Given the description of an element on the screen output the (x, y) to click on. 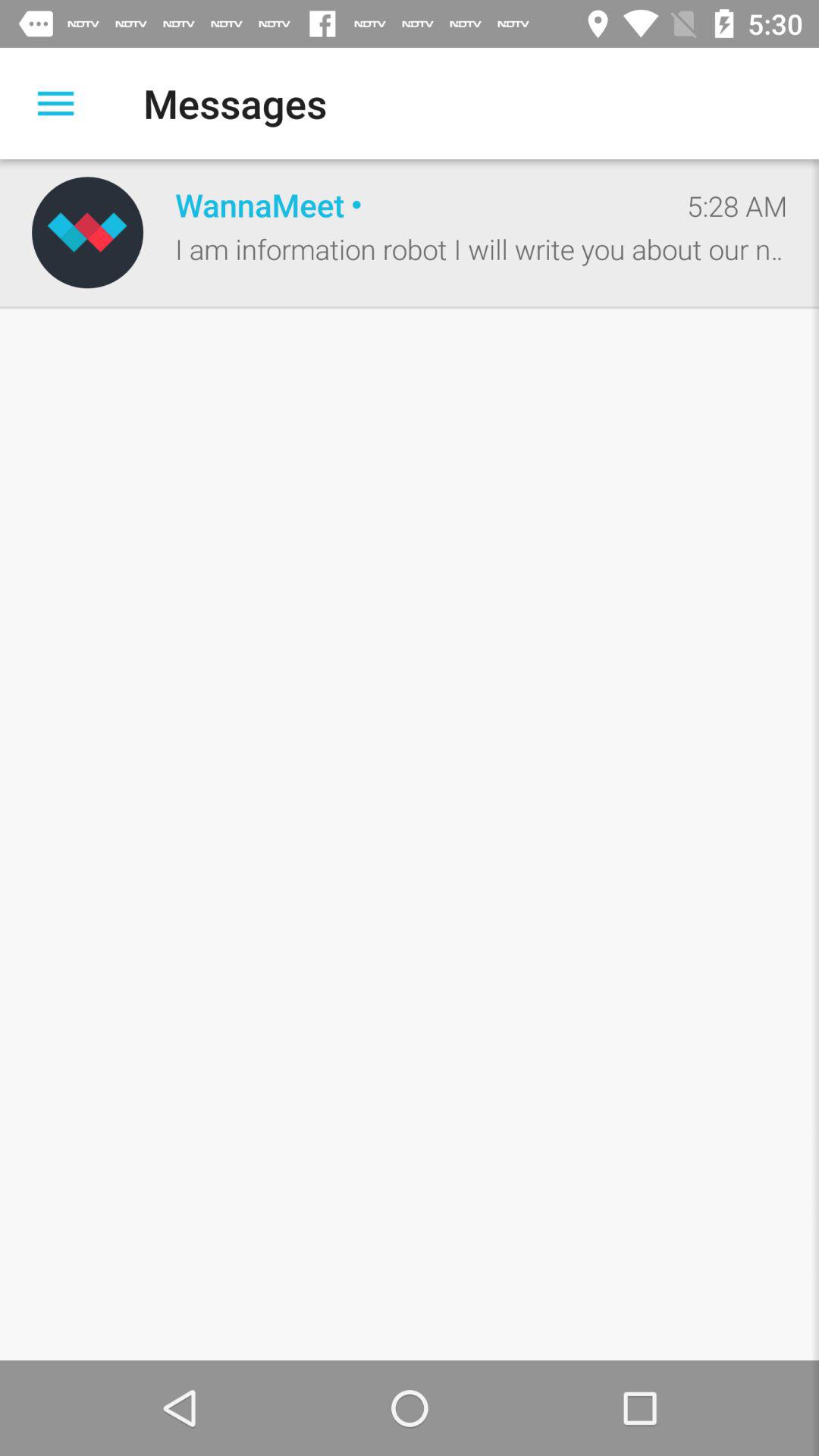
open a list of options (55, 103)
